Given the description of an element on the screen output the (x, y) to click on. 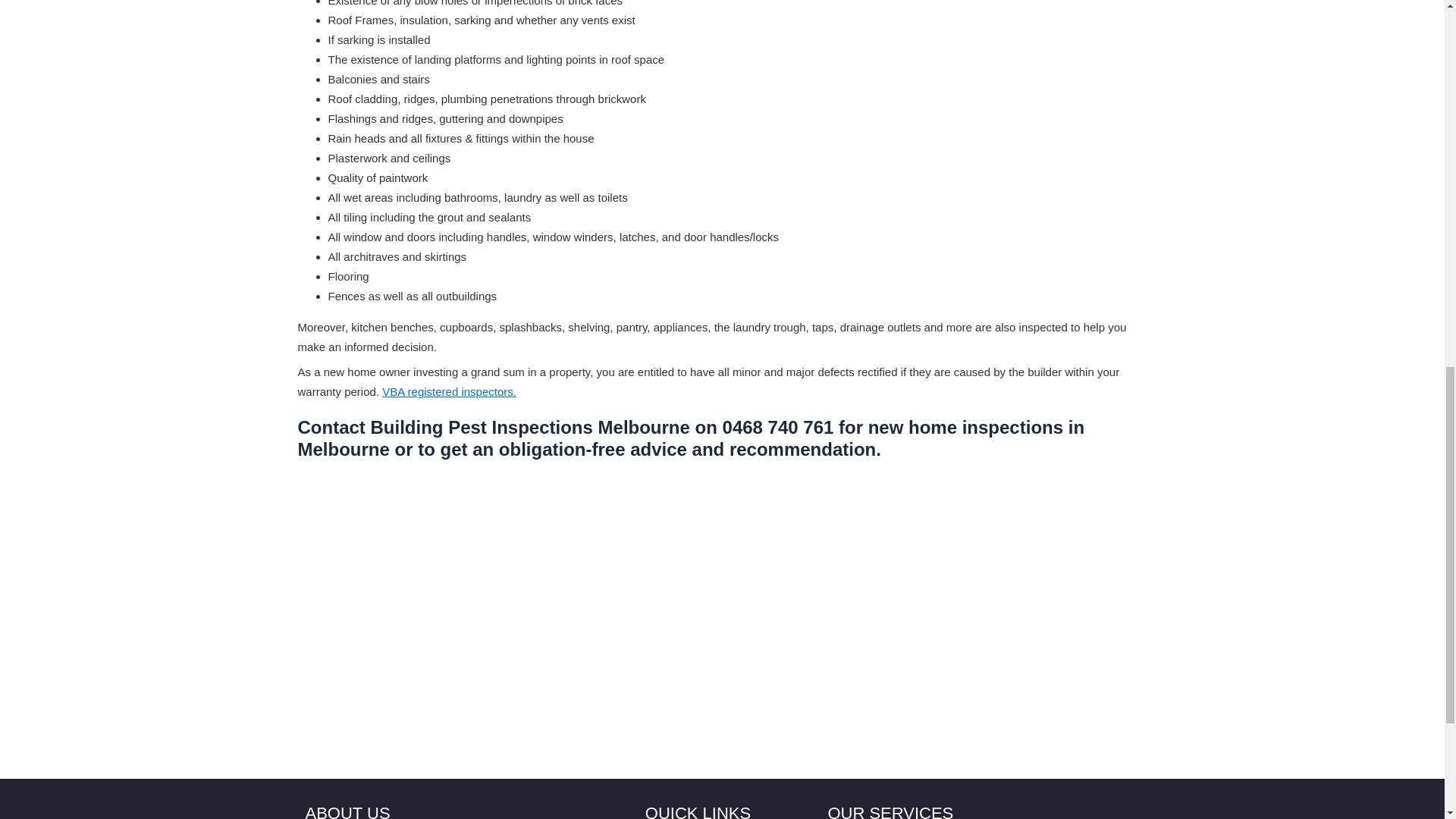
Craigieburn (342, 658)
Wallan (724, 658)
Donnybrook (737, 638)
Sunbury (532, 638)
Greenvale (339, 638)
Meadow Heights (355, 677)
Mickleham  (736, 677)
VBA registered inspectors. (448, 391)
Roxburgh Park (350, 697)
Taylors Hill (538, 697)
Taylors Lakes (545, 677)
